Given the description of an element on the screen output the (x, y) to click on. 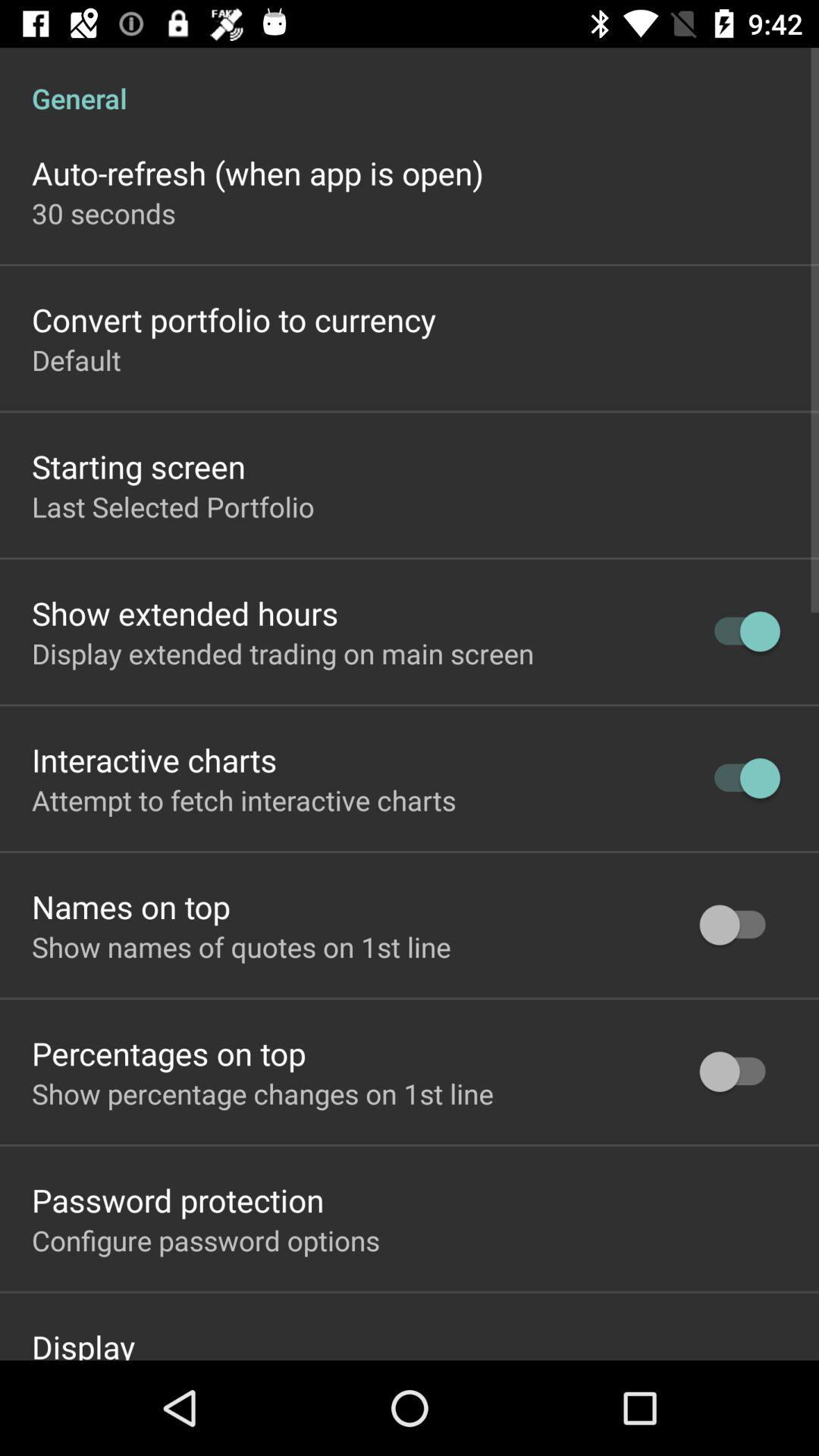
jump until the percentages on top icon (168, 1052)
